Given the description of an element on the screen output the (x, y) to click on. 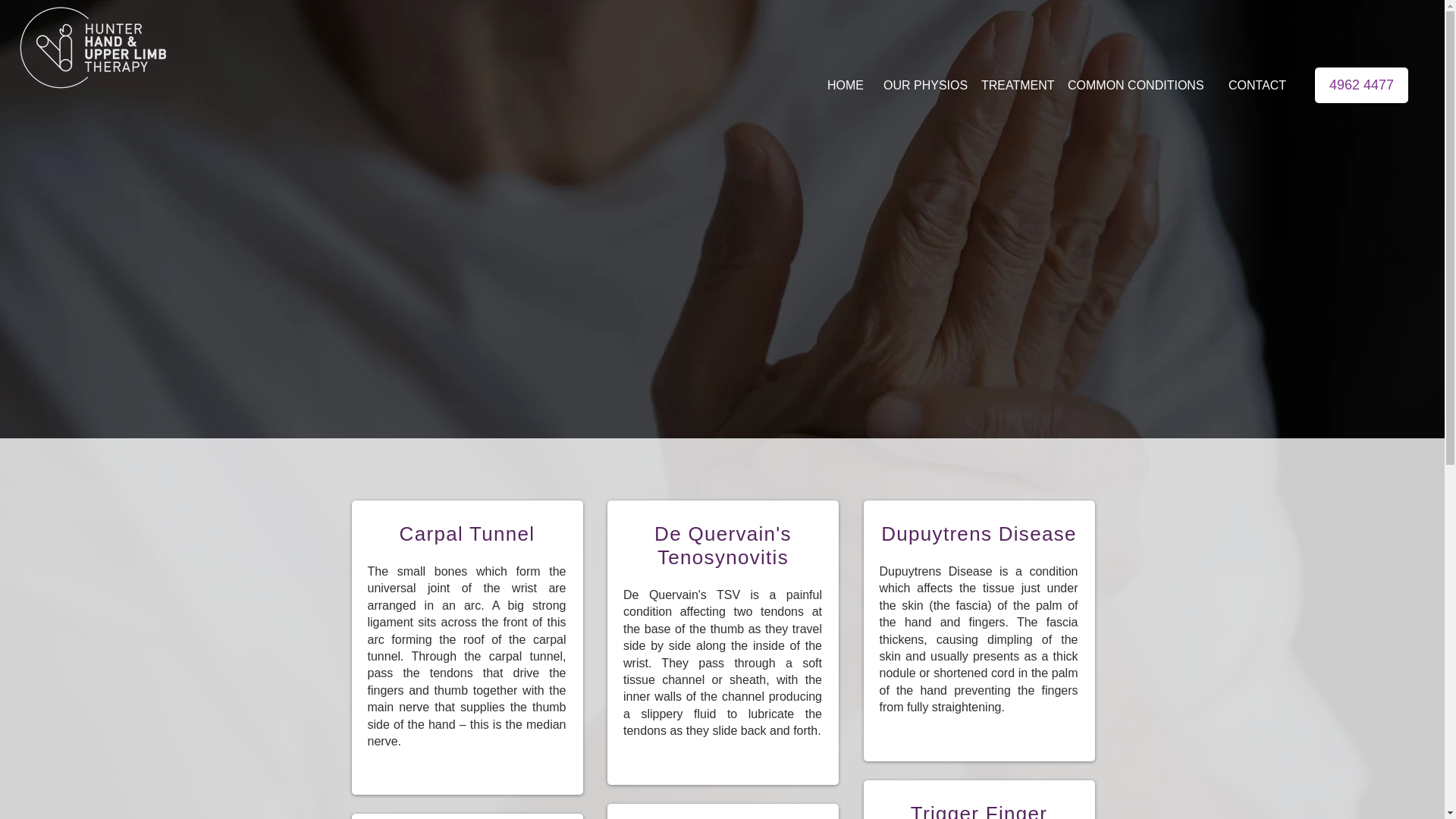
CONTACT (1256, 85)
COMMON CONDITIONS (1138, 85)
4962 4477 (1360, 85)
OUR PHYSIOS (922, 85)
TREATMENT (1014, 85)
HOME (844, 85)
